Given the description of an element on the screen output the (x, y) to click on. 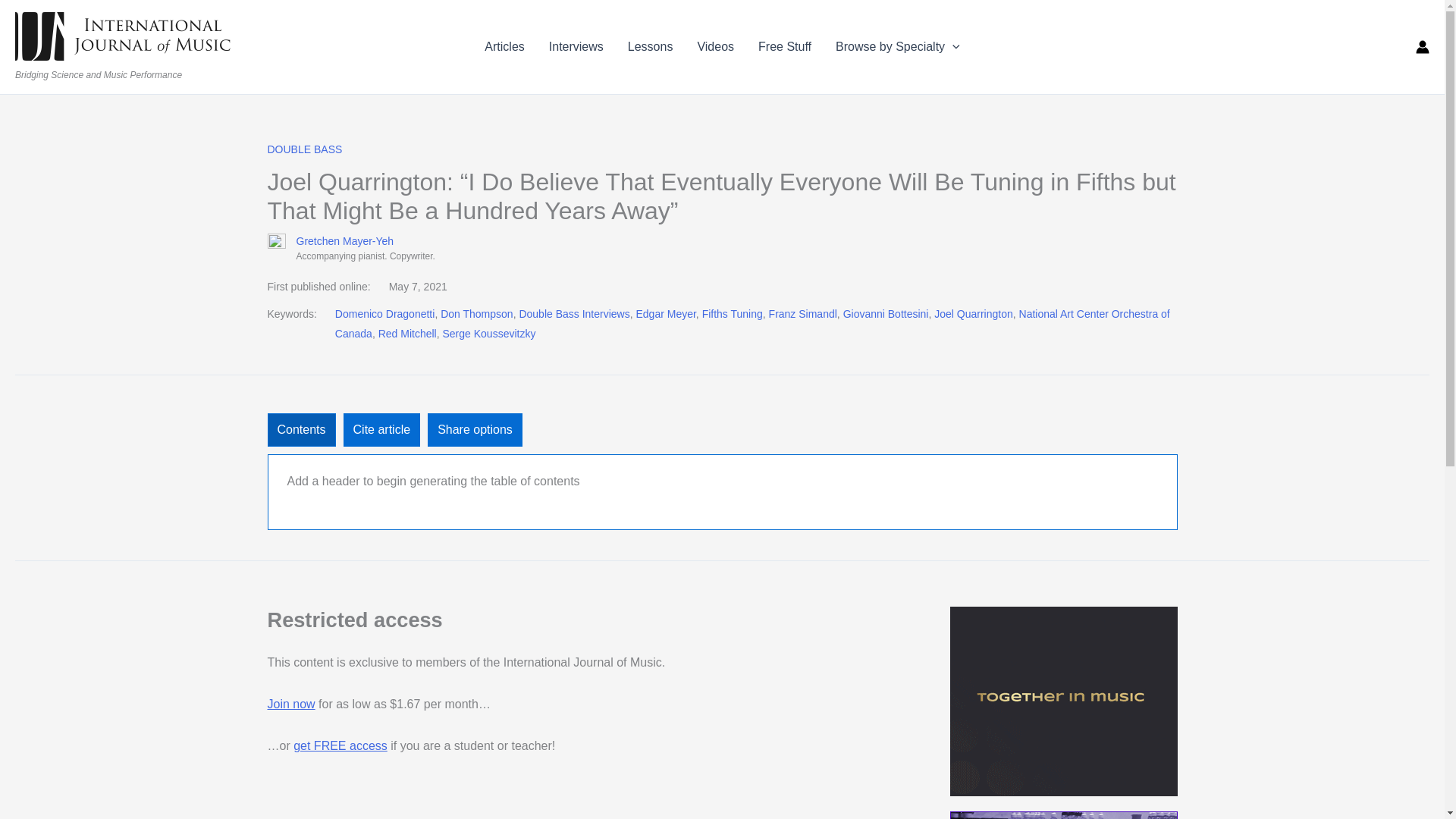
Articles (503, 46)
Browse by Specialty (898, 46)
Lessons (650, 46)
Dillon-Music-Trumpet (1062, 815)
Interviews (576, 46)
Videos (714, 46)
Adams-Together-in-Music (1062, 701)
Free Stuff (784, 46)
